Given the description of an element on the screen output the (x, y) to click on. 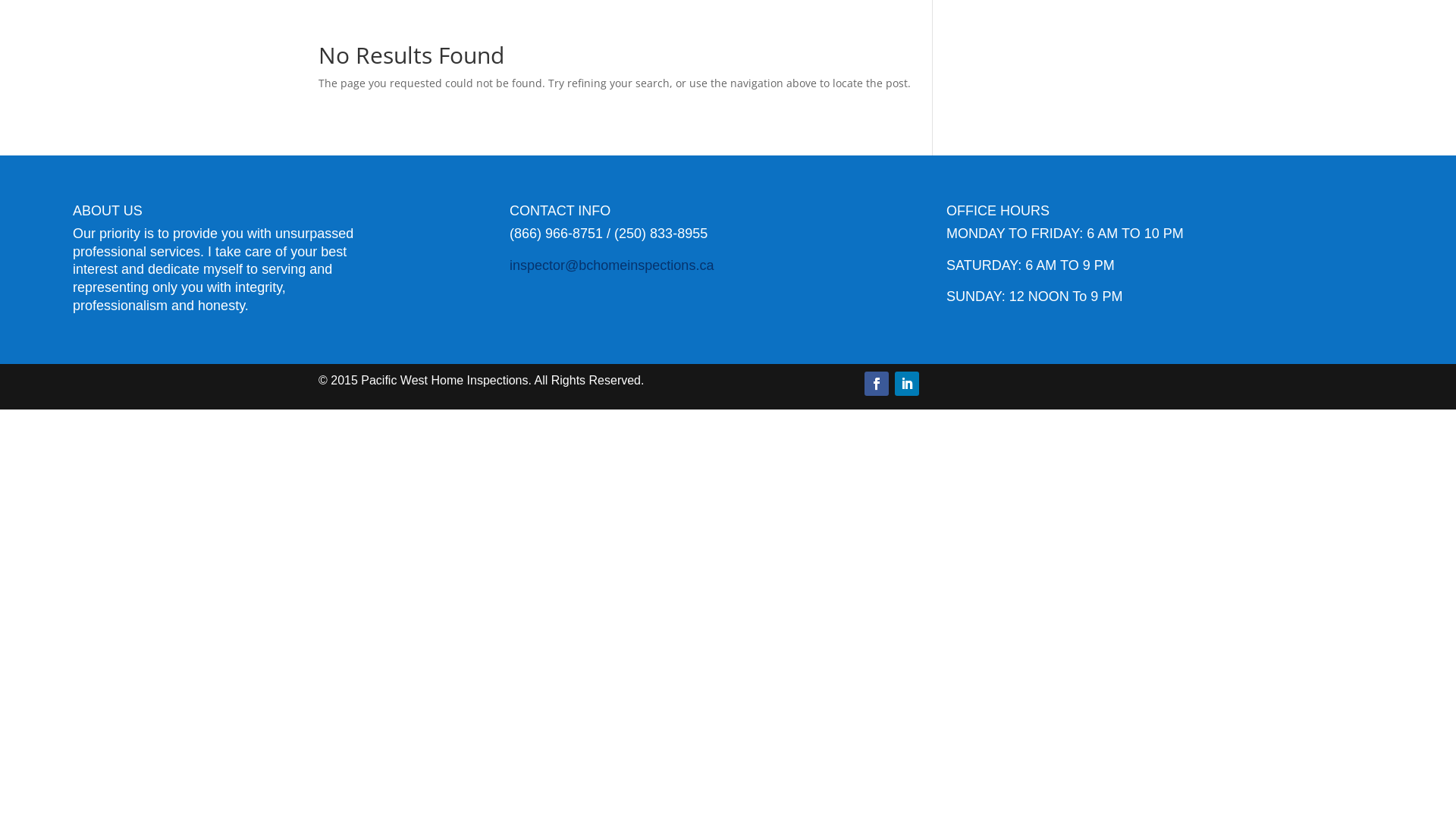
Follow on Facebook Element type: hover (876, 383)
Follow on LinkedIn Element type: hover (906, 383)
inspector@bchomeinspections.ca Element type: text (611, 265)
